Given the description of an element on the screen output the (x, y) to click on. 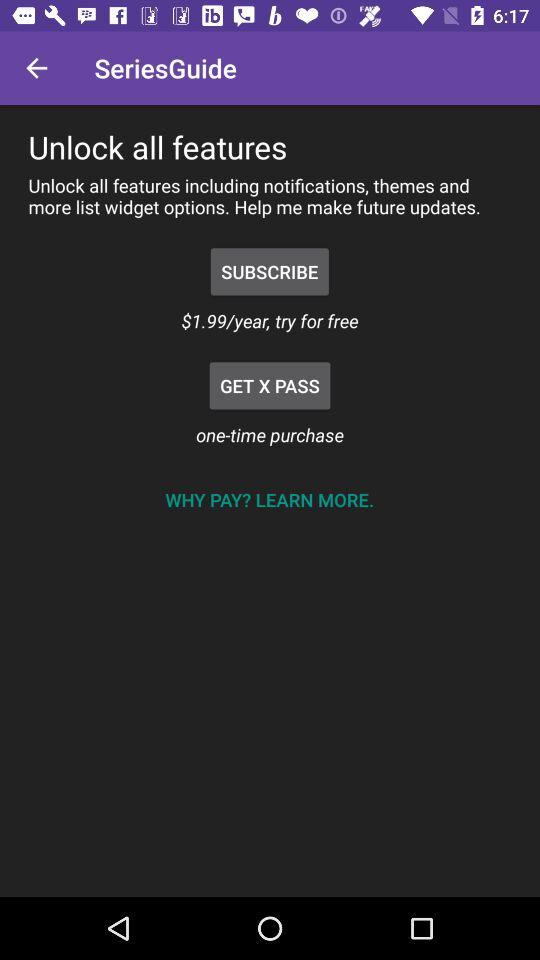
turn on the icon below 1 99 year icon (269, 385)
